Given the description of an element on the screen output the (x, y) to click on. 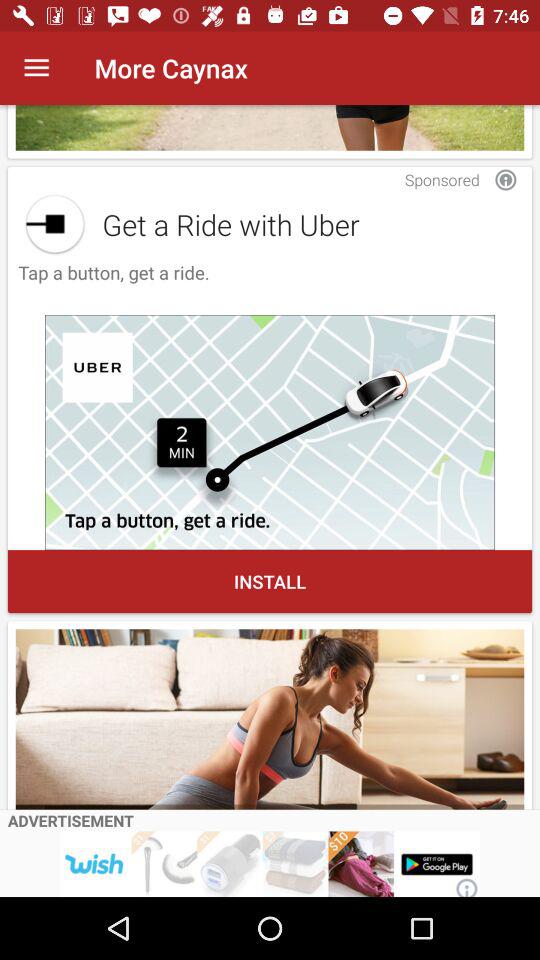
get a ride (54, 224)
